Given the description of an element on the screen output the (x, y) to click on. 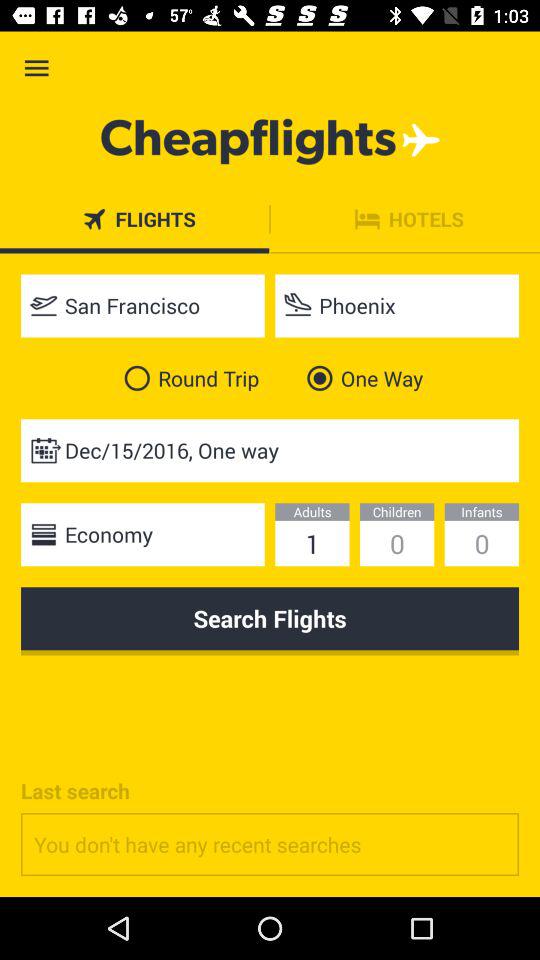
select round trip item (187, 378)
